Given the description of an element on the screen output the (x, y) to click on. 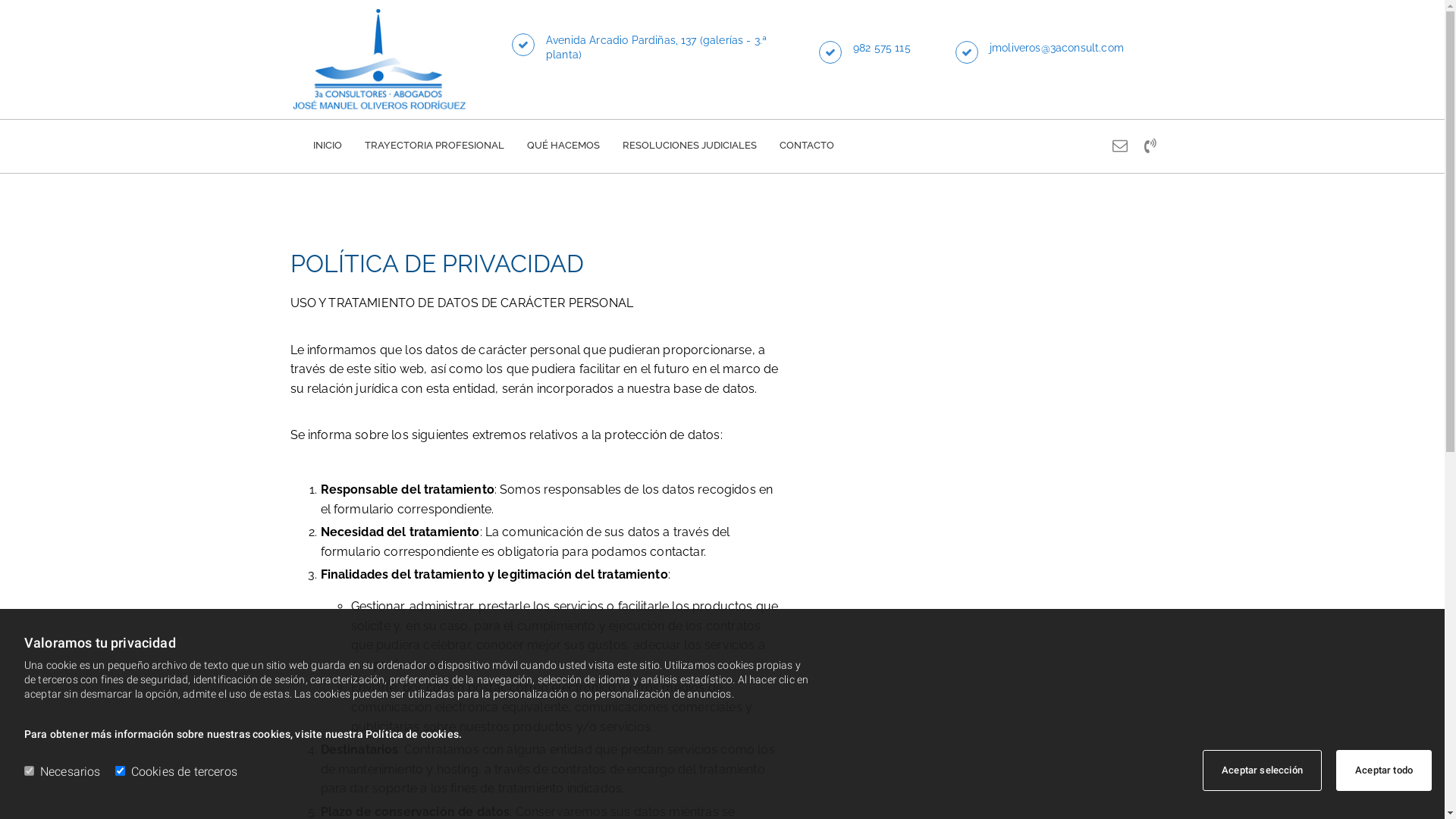
982 575 115 Element type: text (881, 47)
jmoliveros@3aconsult.com Element type: text (1056, 47)
RESOLUCIONES JUDICIALES Element type: text (688, 146)
INICIO Element type: text (326, 146)
CONTACTO Element type: text (806, 146)
TRAYECTORIA PROFESIONAL Element type: text (433, 146)
Aceptar todo Element type: text (1383, 769)
